Given the description of an element on the screen output the (x, y) to click on. 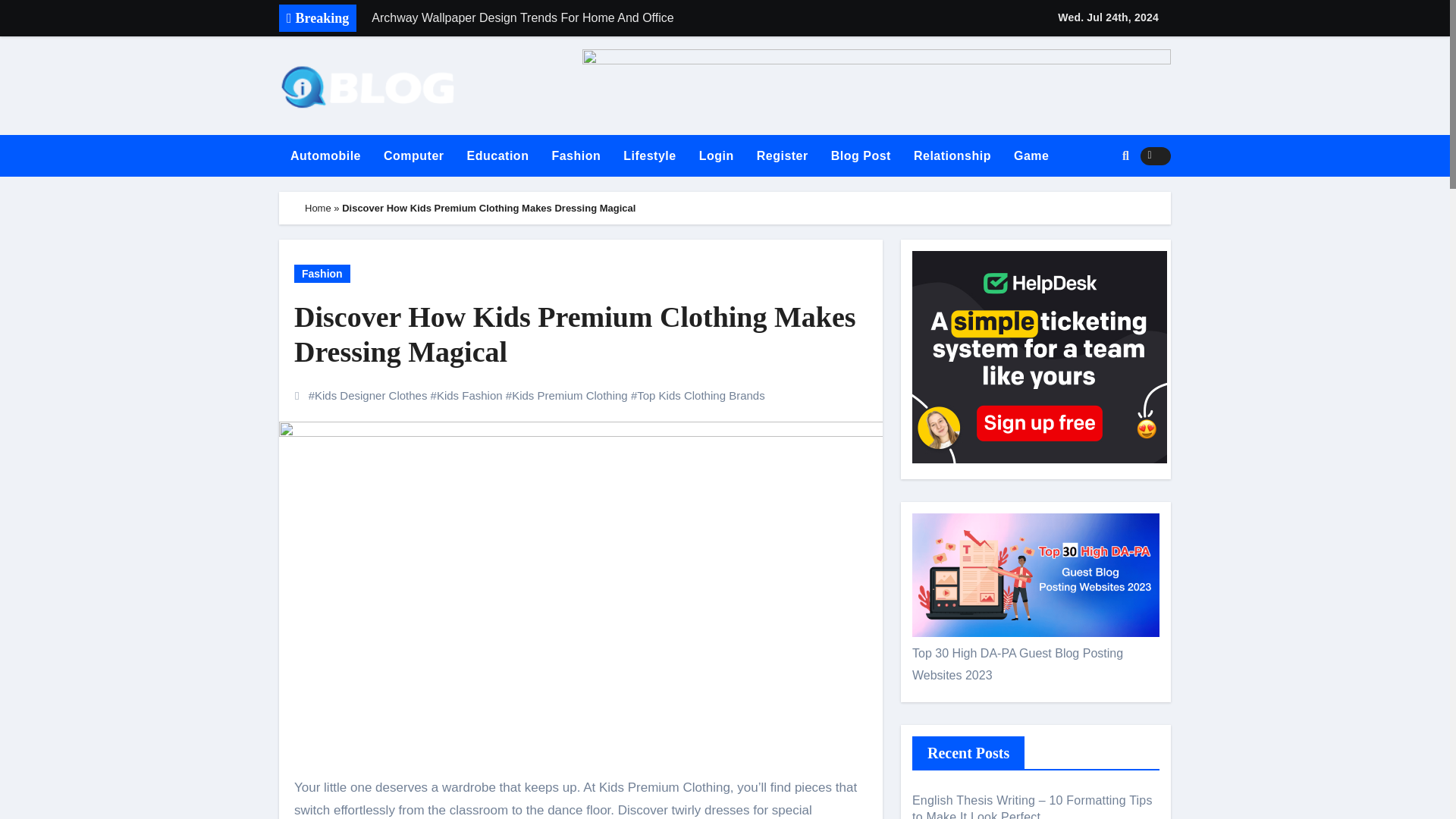
Blog Post (860, 155)
Computer (413, 155)
Register (782, 155)
Fashion (575, 155)
Login (716, 155)
Game (1031, 155)
Relationship (952, 155)
Discover How Kids Premium Clothing Makes Dressing Magical (580, 334)
Login (716, 155)
Archway Wallpaper Design Trends For Home And Office (574, 18)
Lifestyle (649, 155)
Automobile (325, 155)
Education (497, 155)
Computer (413, 155)
Register (782, 155)
